Given the description of an element on the screen output the (x, y) to click on. 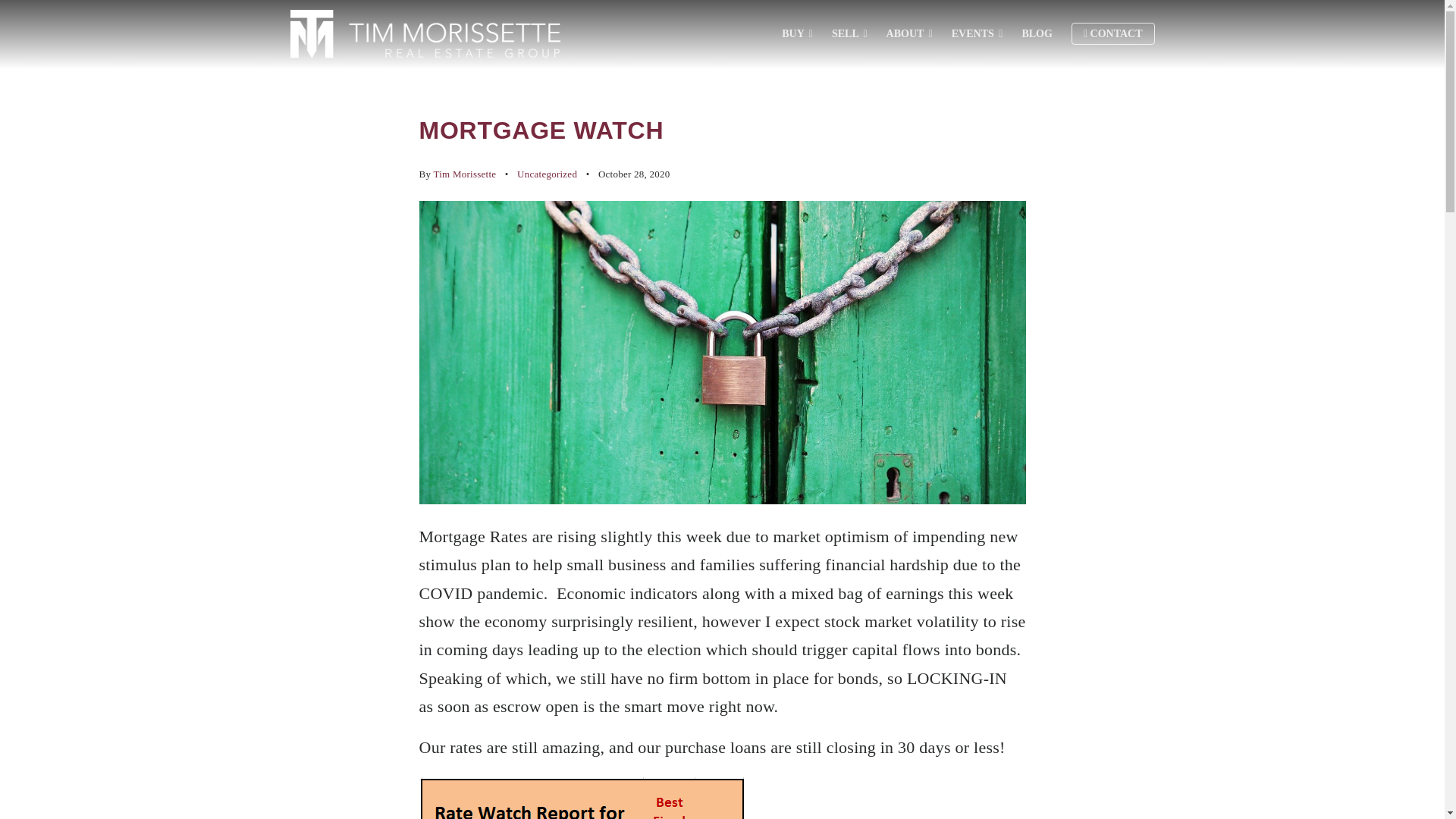
Posts by Tim Morissette (464, 173)
BLOG (1036, 33)
BUY (796, 33)
CONTACT (1112, 33)
EVENTS (977, 33)
SELL (849, 33)
ABOUT (909, 33)
